Given the description of an element on the screen output the (x, y) to click on. 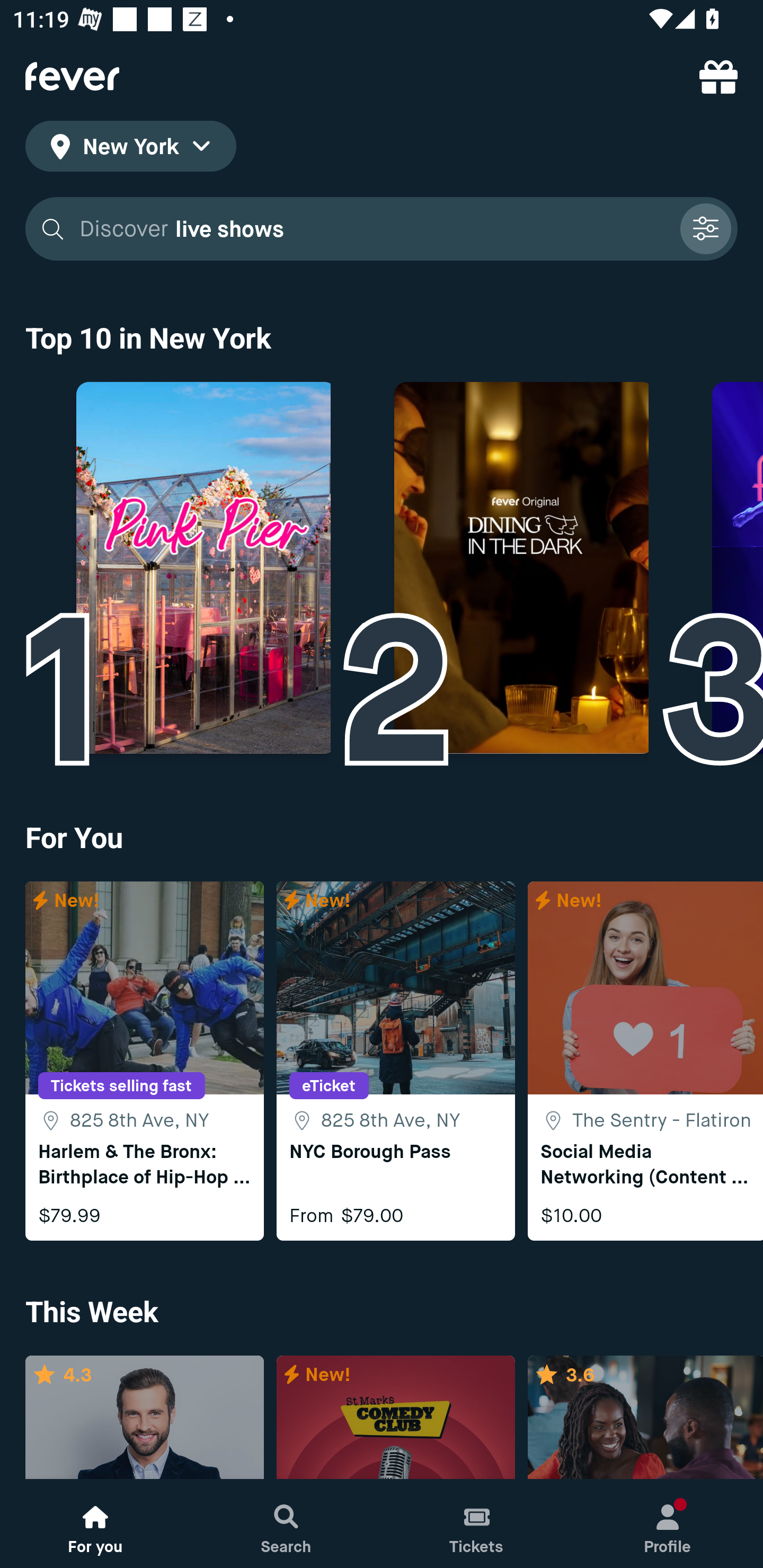
referral (718, 75)
location icon New York location icon (130, 149)
Discover live shows (381, 228)
Discover live shows (373, 228)
Search (285, 1523)
Tickets (476, 1523)
Profile, New notification Profile (667, 1523)
